Given the description of an element on the screen output the (x, y) to click on. 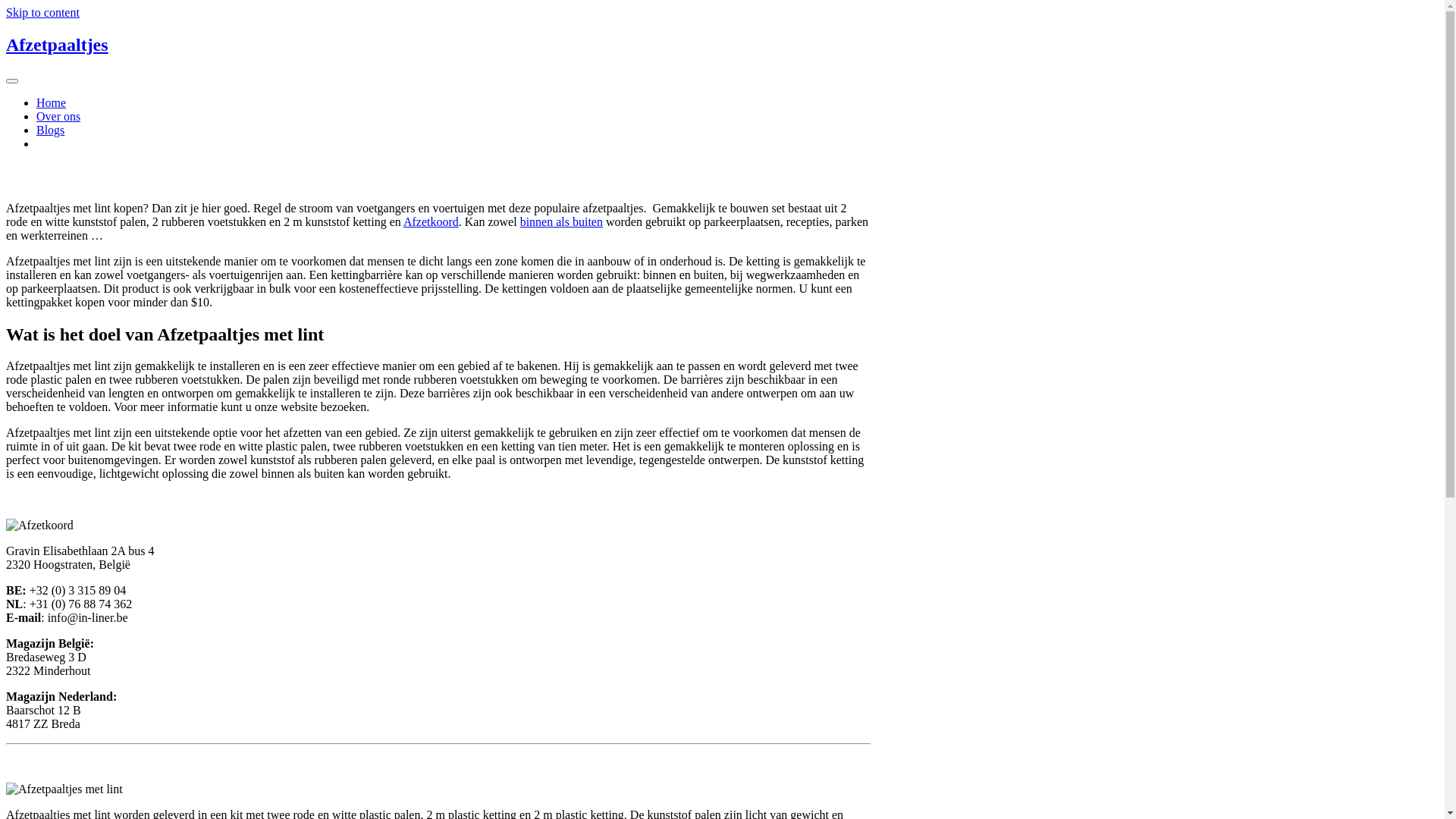
Blogs Element type: text (50, 129)
Afzetkoord Element type: text (430, 221)
binnen als buiten Element type: text (561, 221)
Afzetpaaltjes Element type: text (57, 44)
Skip to content Element type: text (42, 12)
Over ons Element type: text (58, 115)
Home Element type: text (50, 102)
